Given the description of an element on the screen output the (x, y) to click on. 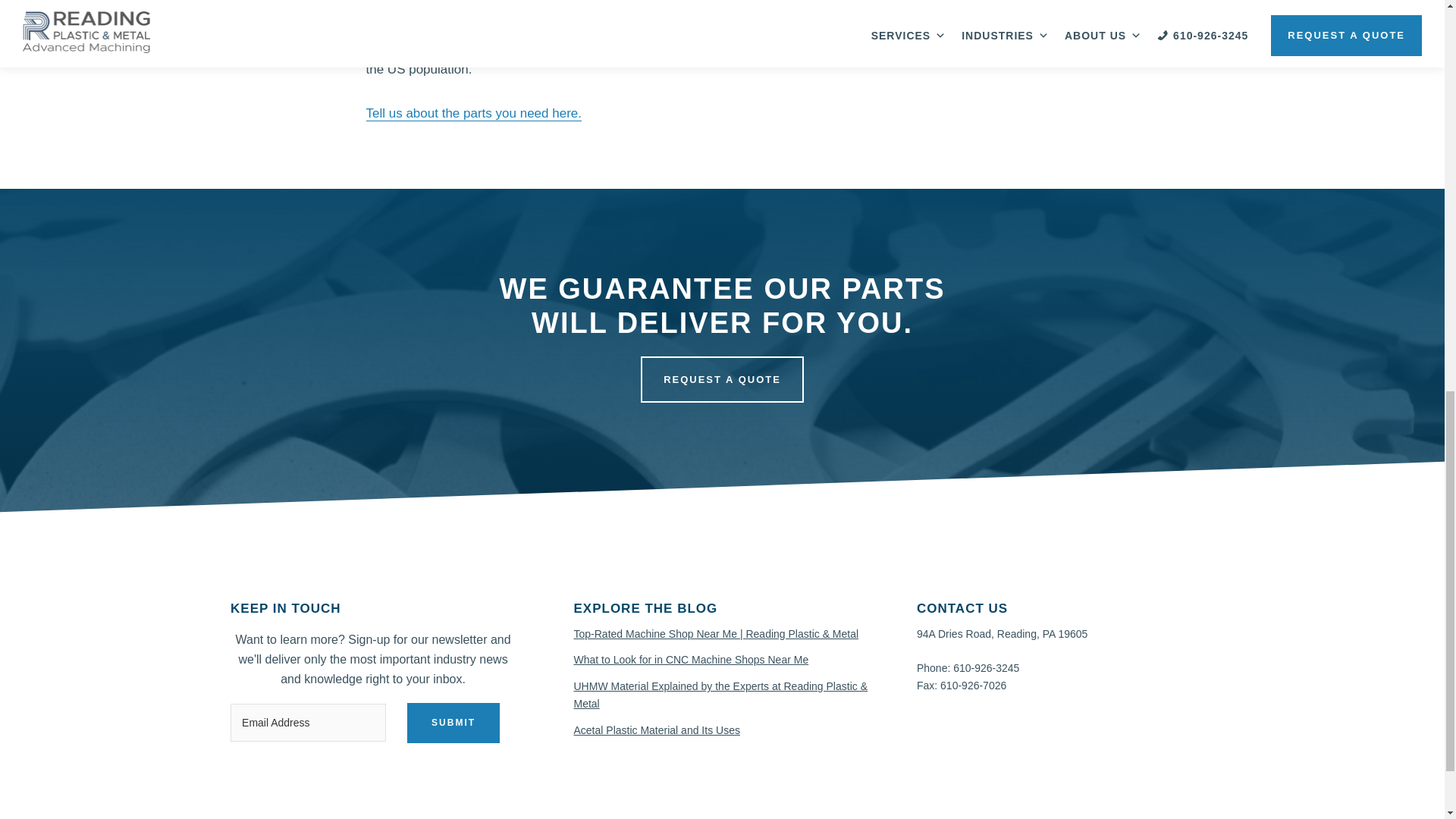
REQUEST A QUOTE (721, 379)
Tell us about the parts you need here. (472, 113)
Submit (453, 722)
Acetal Plastic Material and Its Uses (656, 729)
Submit (453, 722)
What to Look for in CNC Machine Shops Near Me (690, 659)
